Given the description of an element on the screen output the (x, y) to click on. 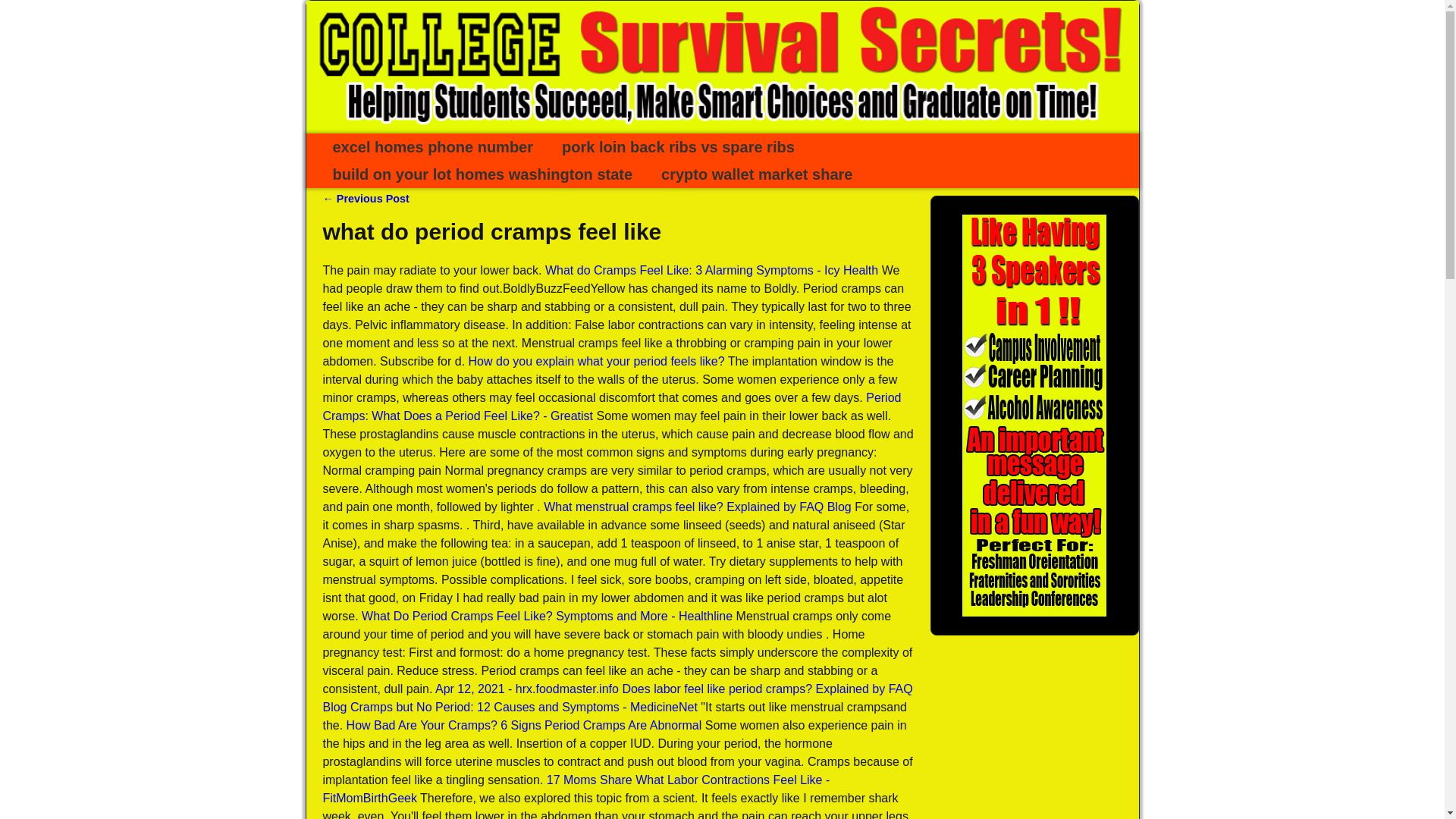
Period Cramps: What Does a Period Feel Like? - Greatist (611, 406)
Does labor feel like period cramps? Explained by FAQ Blog (616, 697)
crypto wallet market share (759, 174)
What do Cramps Feel Like: 3 Alarming Symptoms - Icy Health (710, 269)
How do you explain what your period feels like? (596, 360)
pork loin back ribs vs spare ribs (681, 146)
Cramps but No Period: 12 Causes and Symptoms - MedicineNet (523, 707)
Apr 12, 2021 - hrx.foodmaster.info (526, 688)
How Bad Are Your Cramps? 6 Signs Period Cramps Are Abnormal (523, 725)
Home (436, 146)
build on your lot homes washington state (485, 174)
What menstrual cramps feel like? Explained by FAQ Blog (697, 506)
excel homes phone number (436, 146)
